Given the description of an element on the screen output the (x, y) to click on. 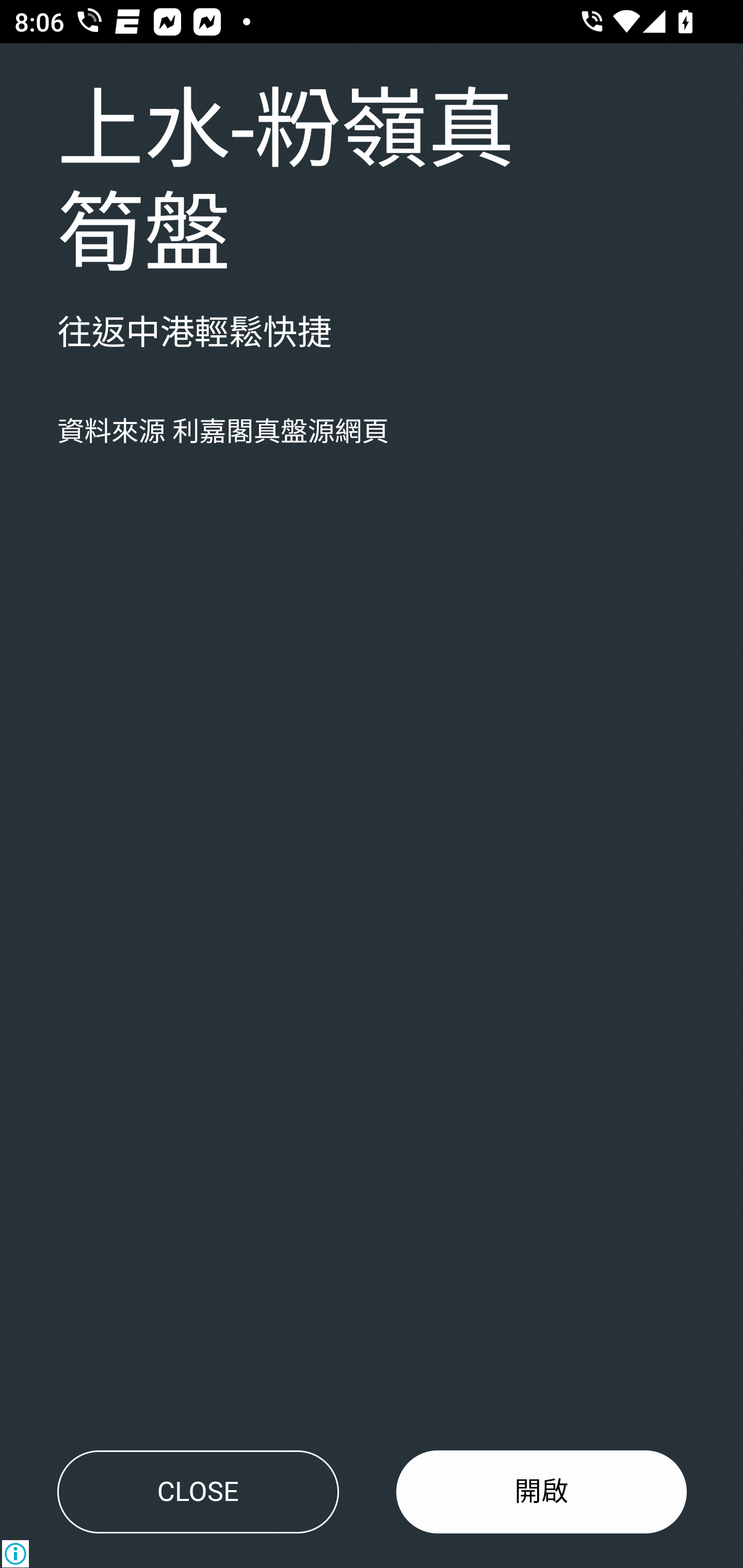
上水-粉嶺真 筍盤 上水-粉嶺真 筍盤 (285, 182)
往返中港輕鬆快捷 (194, 333)
資料來源 利嘉閣真盤源網頁 (222, 432)
CLOSE (197, 1491)
開啟 (541, 1491)
